Given the description of an element on the screen output the (x, y) to click on. 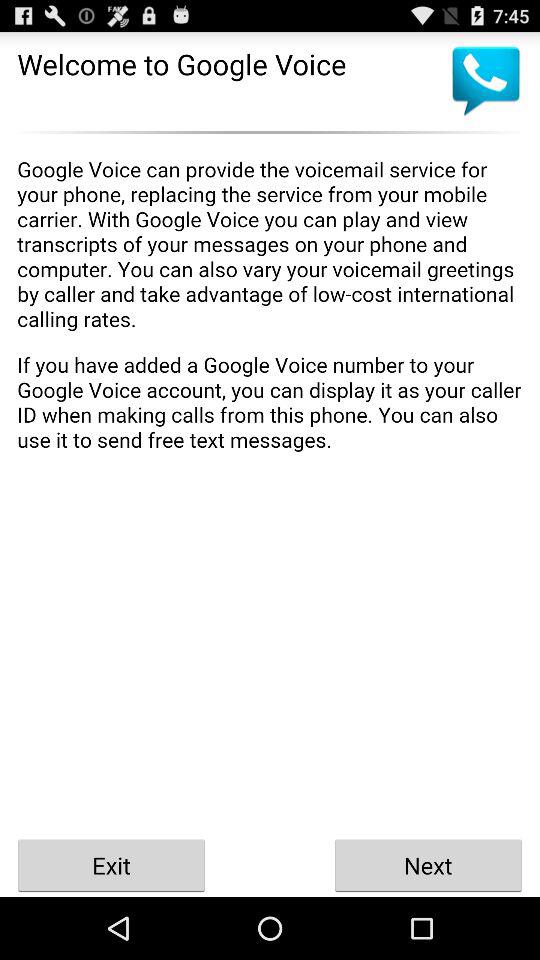
swipe to the next item (427, 864)
